Given the description of an element on the screen output the (x, y) to click on. 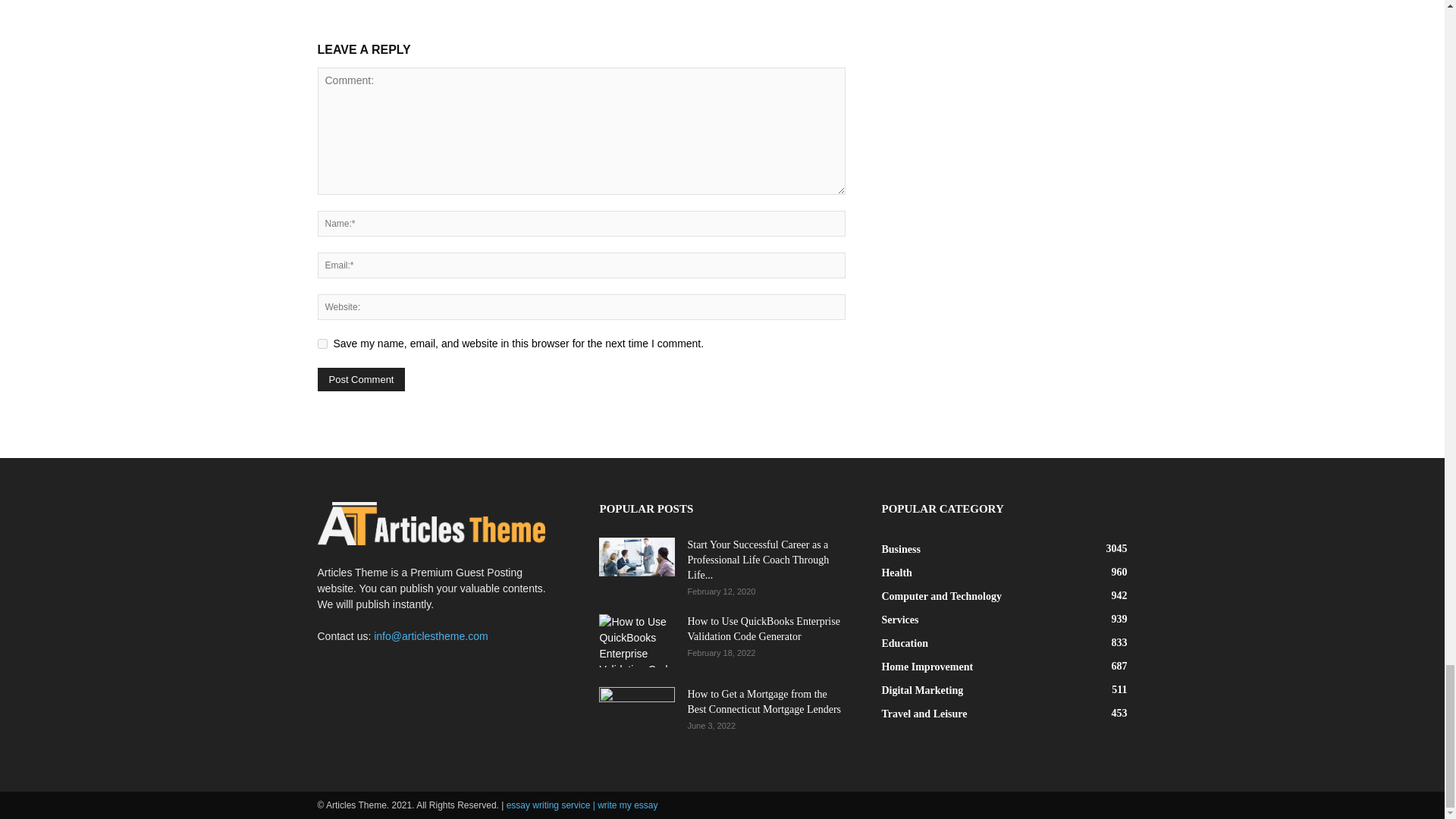
yes (321, 343)
Post Comment (360, 379)
